Given the description of an element on the screen output the (x, y) to click on. 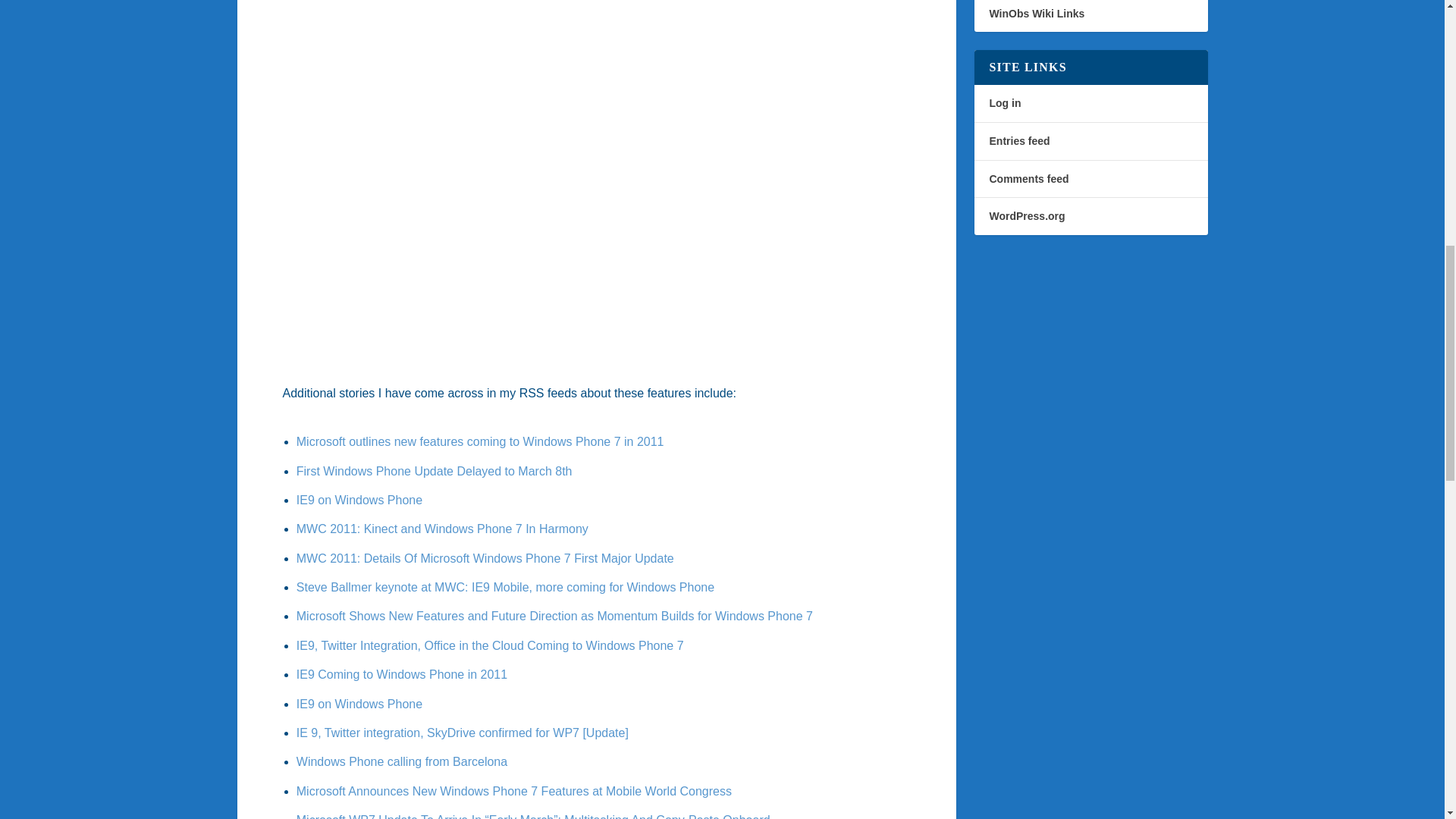
First Windows Phone Update Delayed to March 8th (434, 471)
IE9 on Windows Phone (359, 703)
IE9 on Windows Phone (359, 499)
IE9 Coming to Windows Phone in 2011 (401, 674)
MWC 2011: Kinect and Windows Phone 7 In Harmony (442, 528)
